Given the description of an element on the screen output the (x, y) to click on. 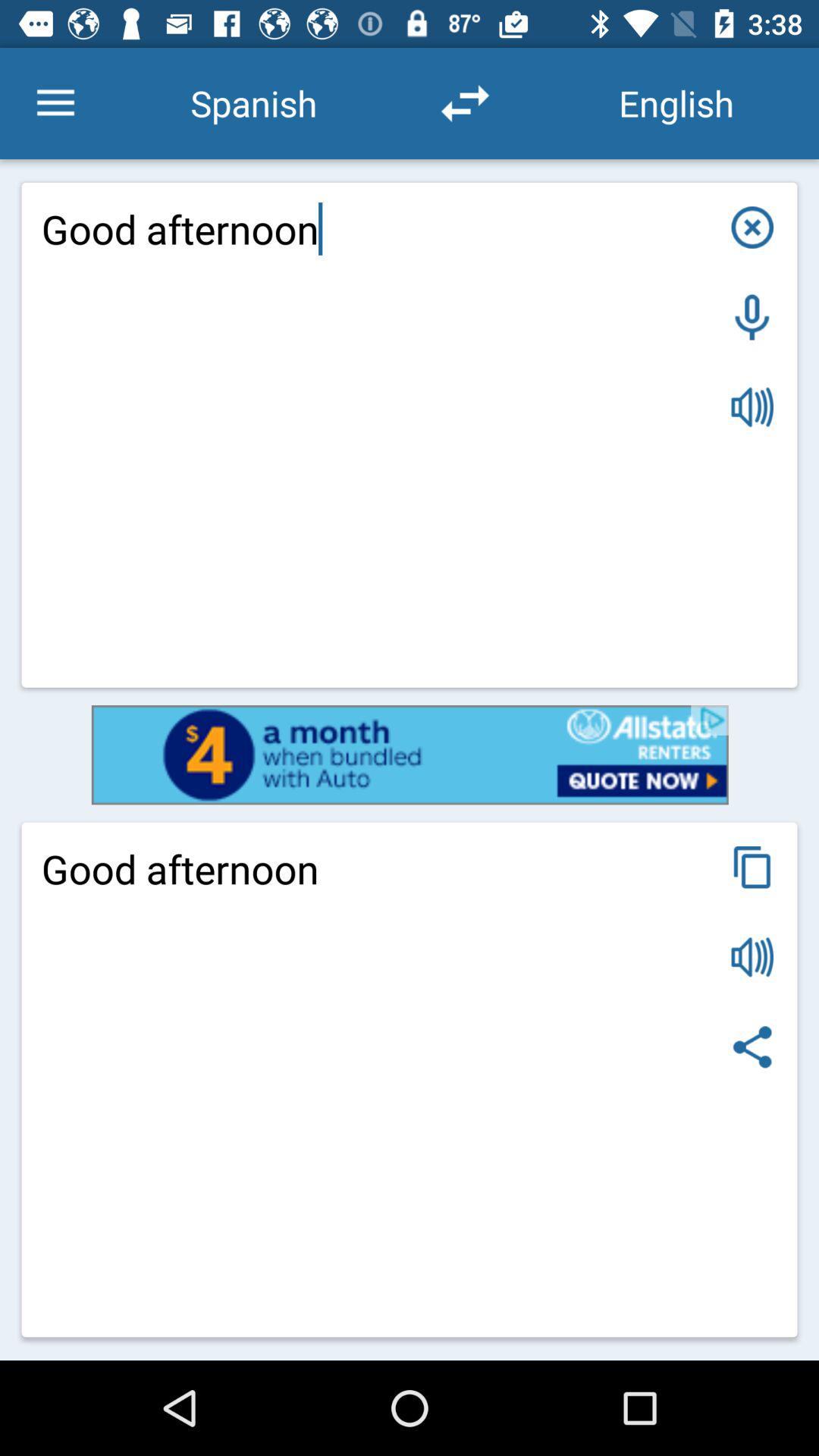
volume adjustment (752, 407)
